Given the description of an element on the screen output the (x, y) to click on. 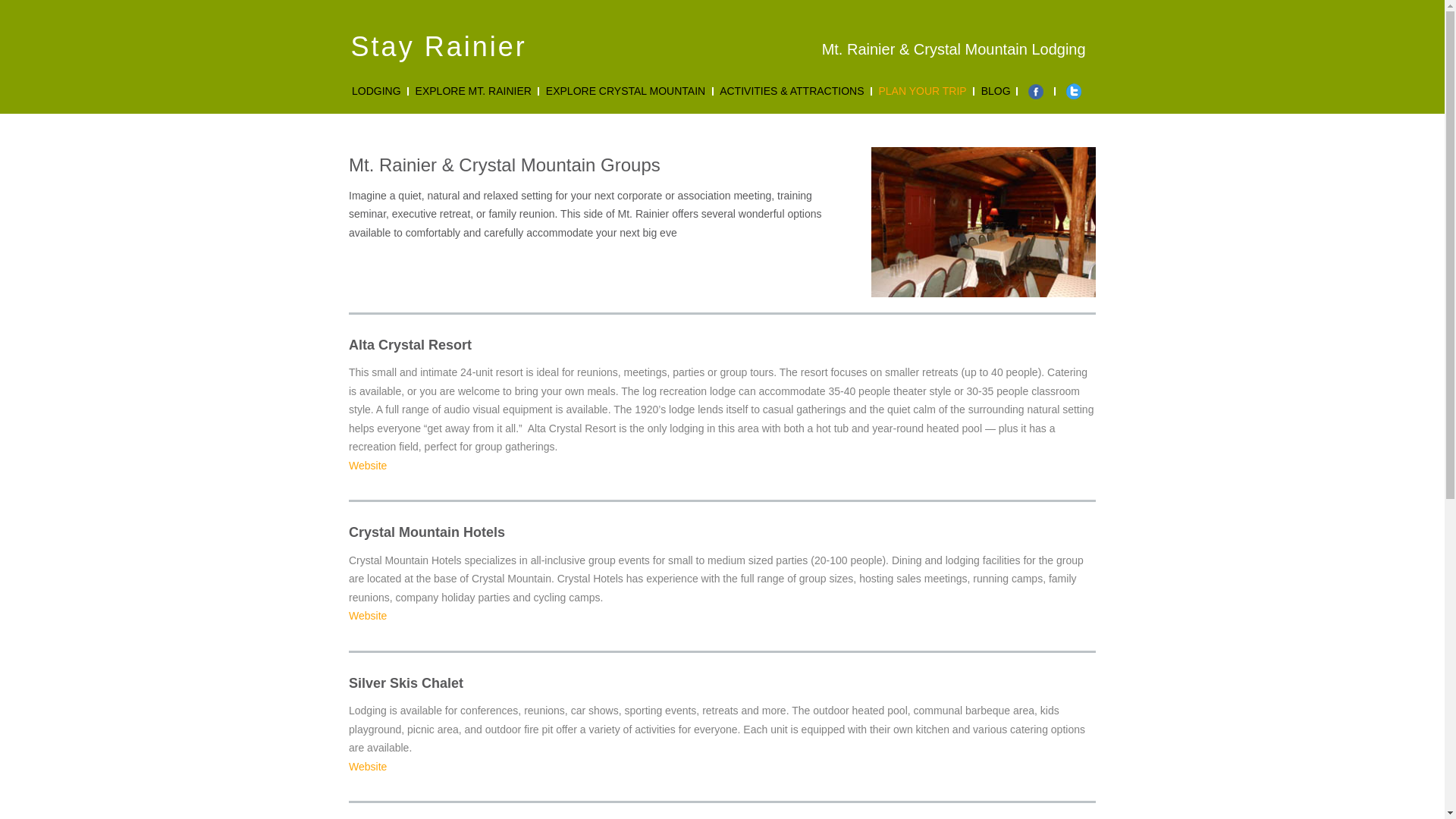
Website (368, 766)
EXPLORE CRYSTAL MOUNTAIN (625, 91)
Explore Mt. Rainier (473, 91)
FACEBOOK (1036, 91)
PLAN YOUR TRIP (922, 91)
EXPLORE MT. RAINIER (473, 91)
LODGING (376, 91)
BLOG (995, 91)
Explore Crystal Mountain (625, 91)
Lodging (376, 91)
Website (368, 615)
Website (368, 465)
Stay Rainier (438, 46)
TWITTER (1074, 91)
